Given the description of an element on the screen output the (x, y) to click on. 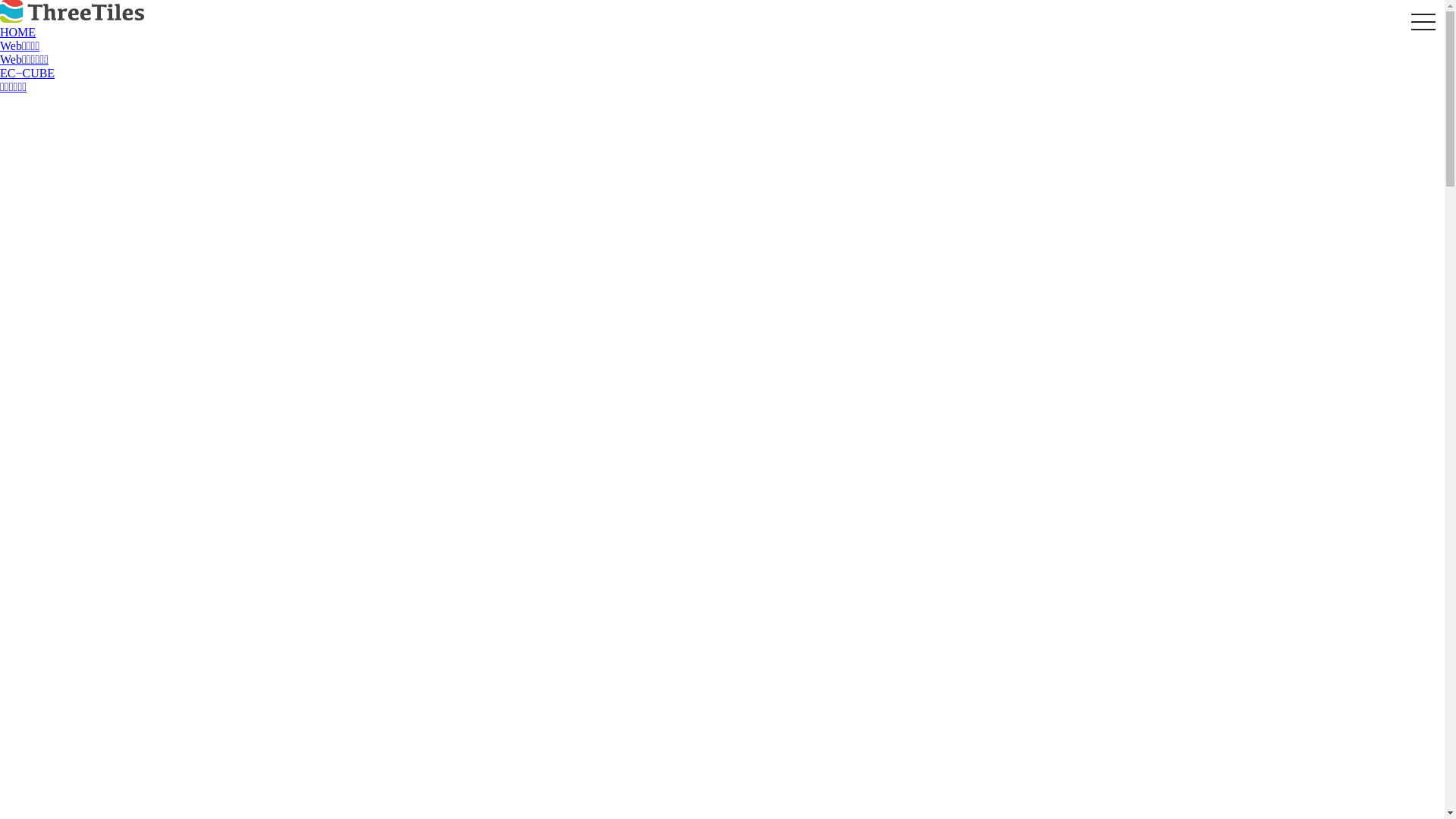
toggle navigation Element type: text (1423, 22)
HOME Element type: text (17, 31)
